Given the description of an element on the screen output the (x, y) to click on. 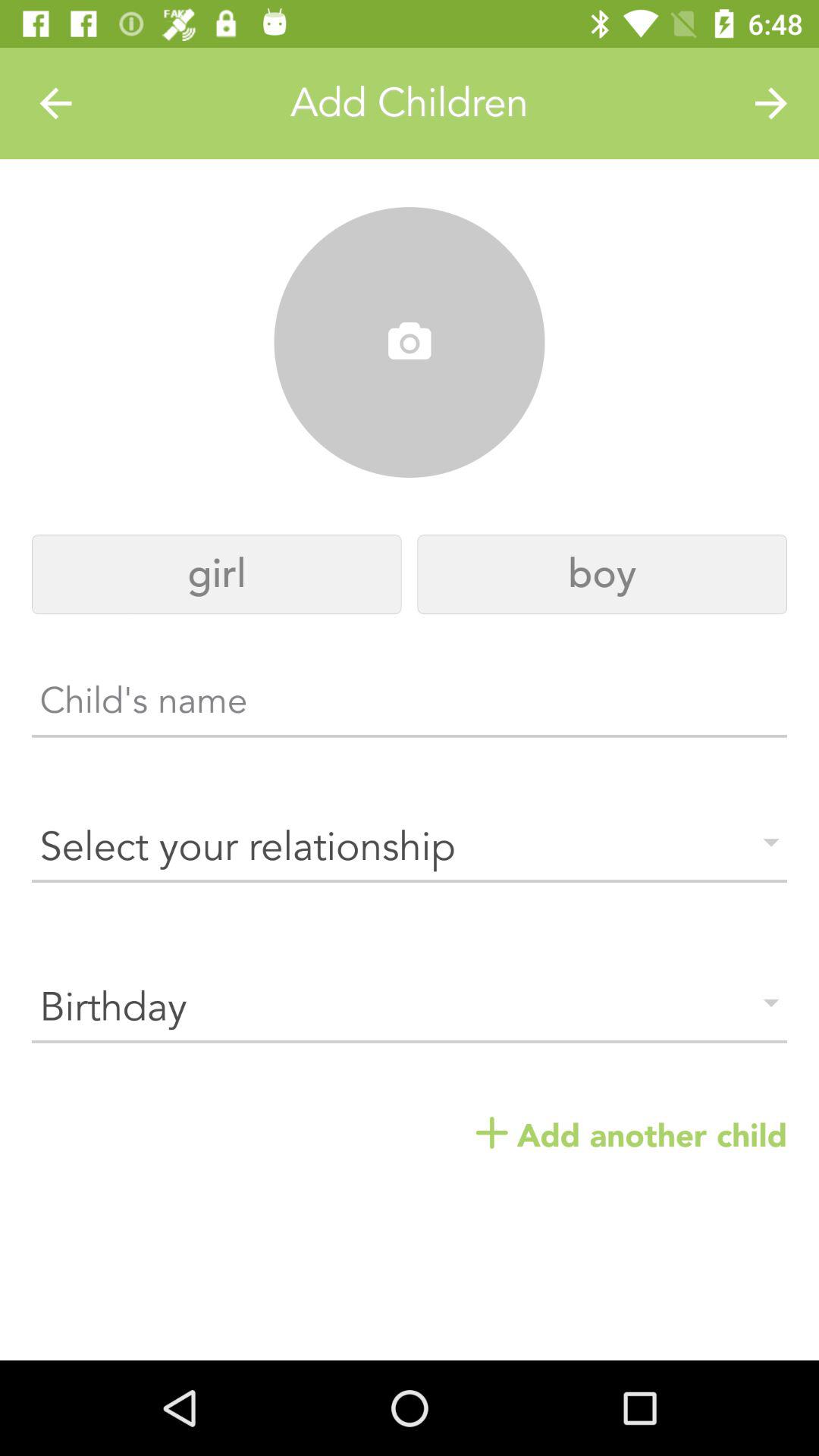
choose item at the top right corner (771, 103)
